Given the description of an element on the screen output the (x, y) to click on. 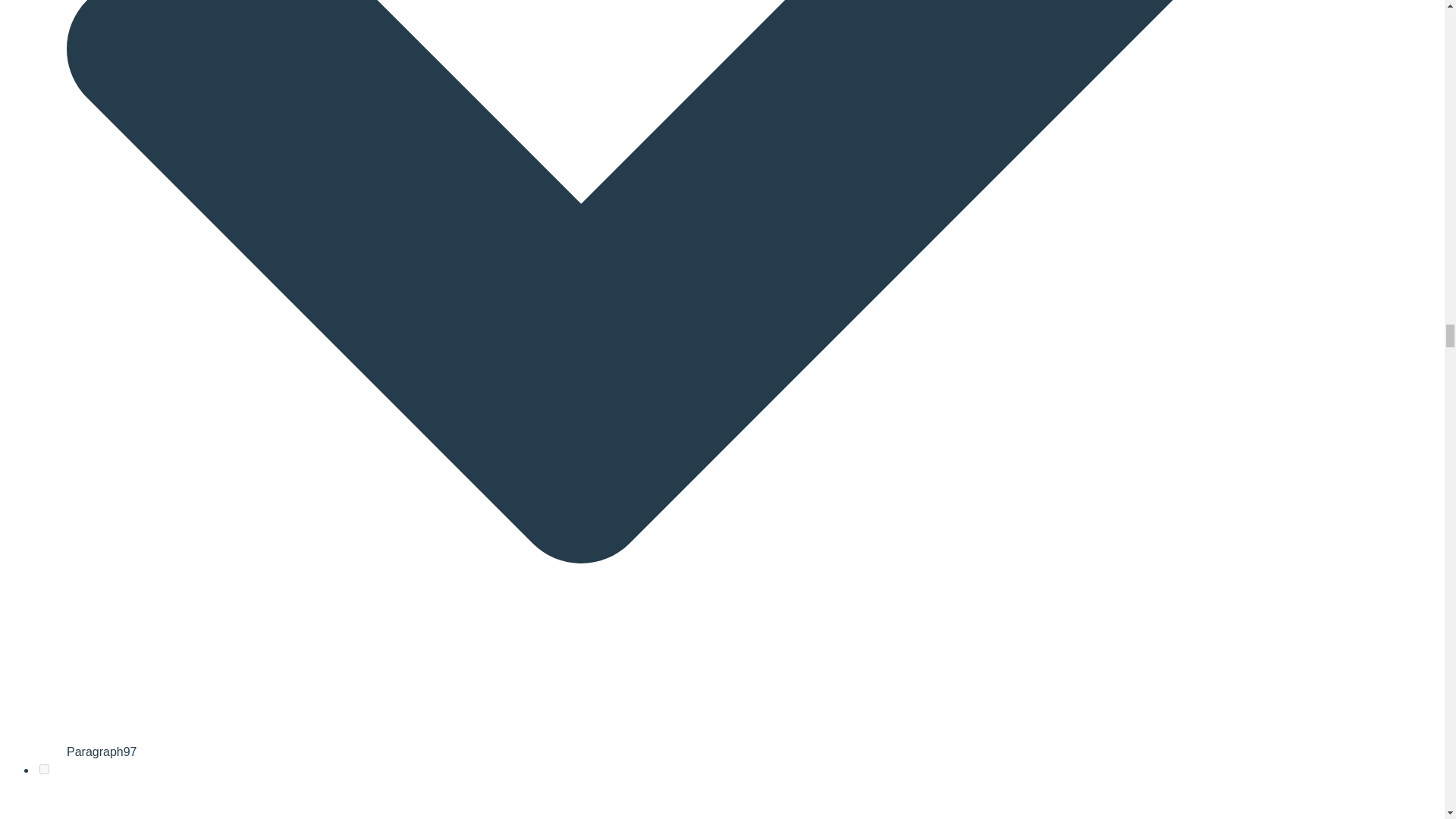
on (44, 768)
